Given the description of an element on the screen output the (x, y) to click on. 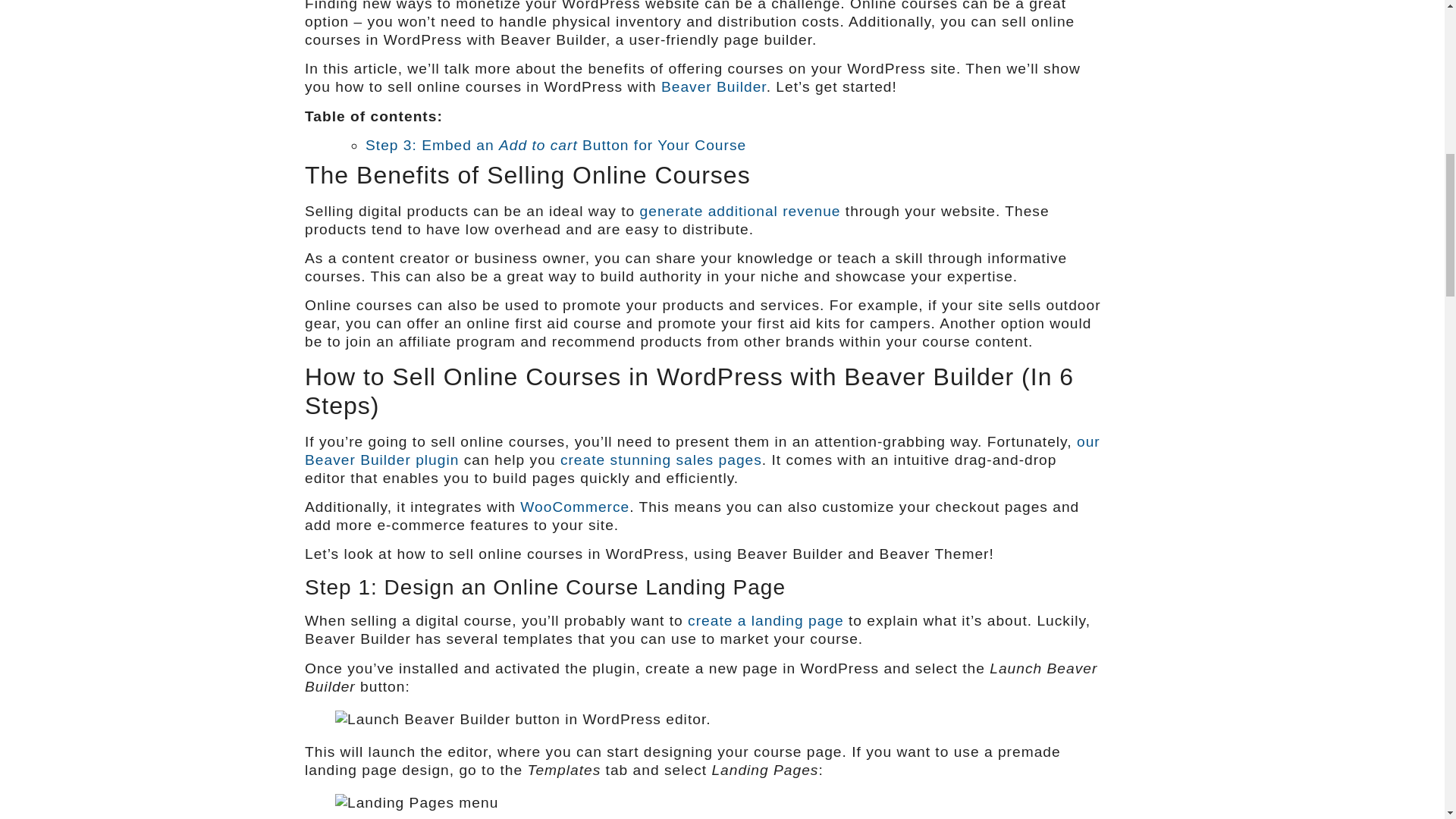
create a landing page (765, 620)
generate additional revenue (740, 211)
create stunning sales pages (660, 459)
Step 3: Embed an Add to cart Button for Your Course (555, 145)
Beaver Builder (714, 86)
WooCommerce (573, 506)
our Beaver Builder plugin (702, 450)
